Given the description of an element on the screen output the (x, y) to click on. 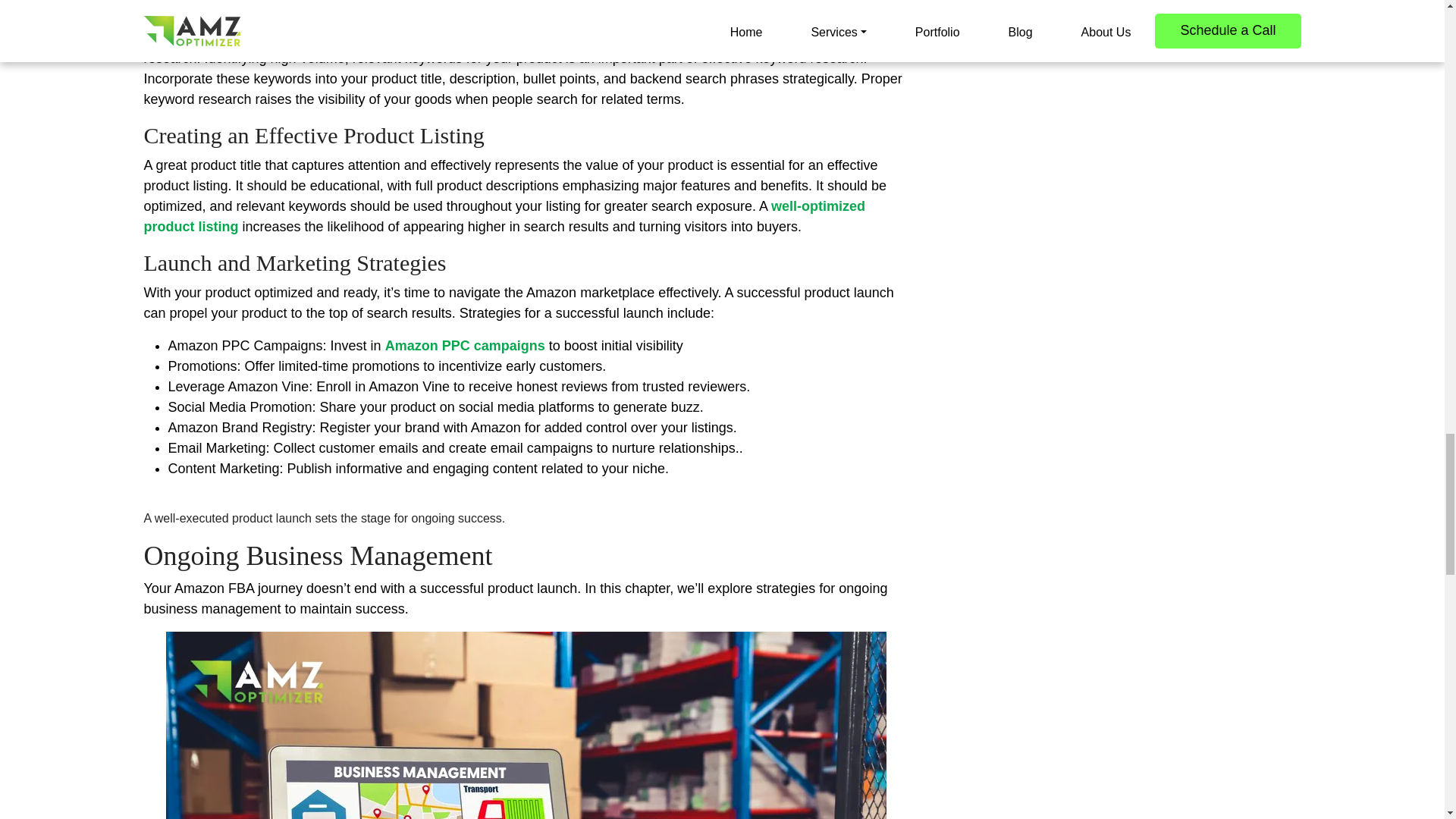
Amazon PPC campaigns (464, 345)
well-optimized product listing (505, 216)
